Given the description of an element on the screen output the (x, y) to click on. 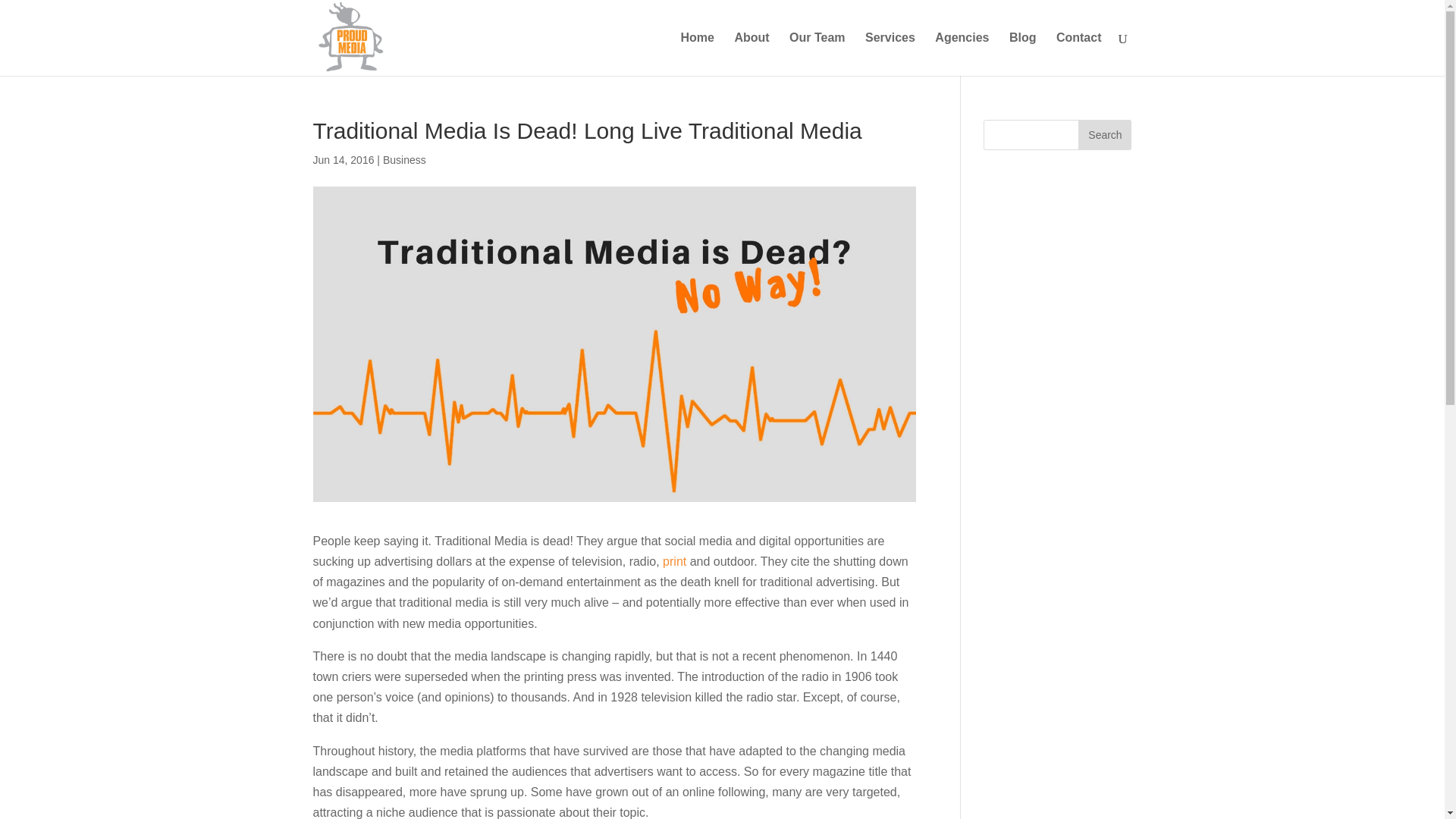
print (673, 561)
Search (1104, 134)
Services (889, 54)
Our Team (817, 54)
Agencies (961, 54)
Contact (1079, 54)
Business (404, 159)
Search (1104, 134)
